Given the description of an element on the screen output the (x, y) to click on. 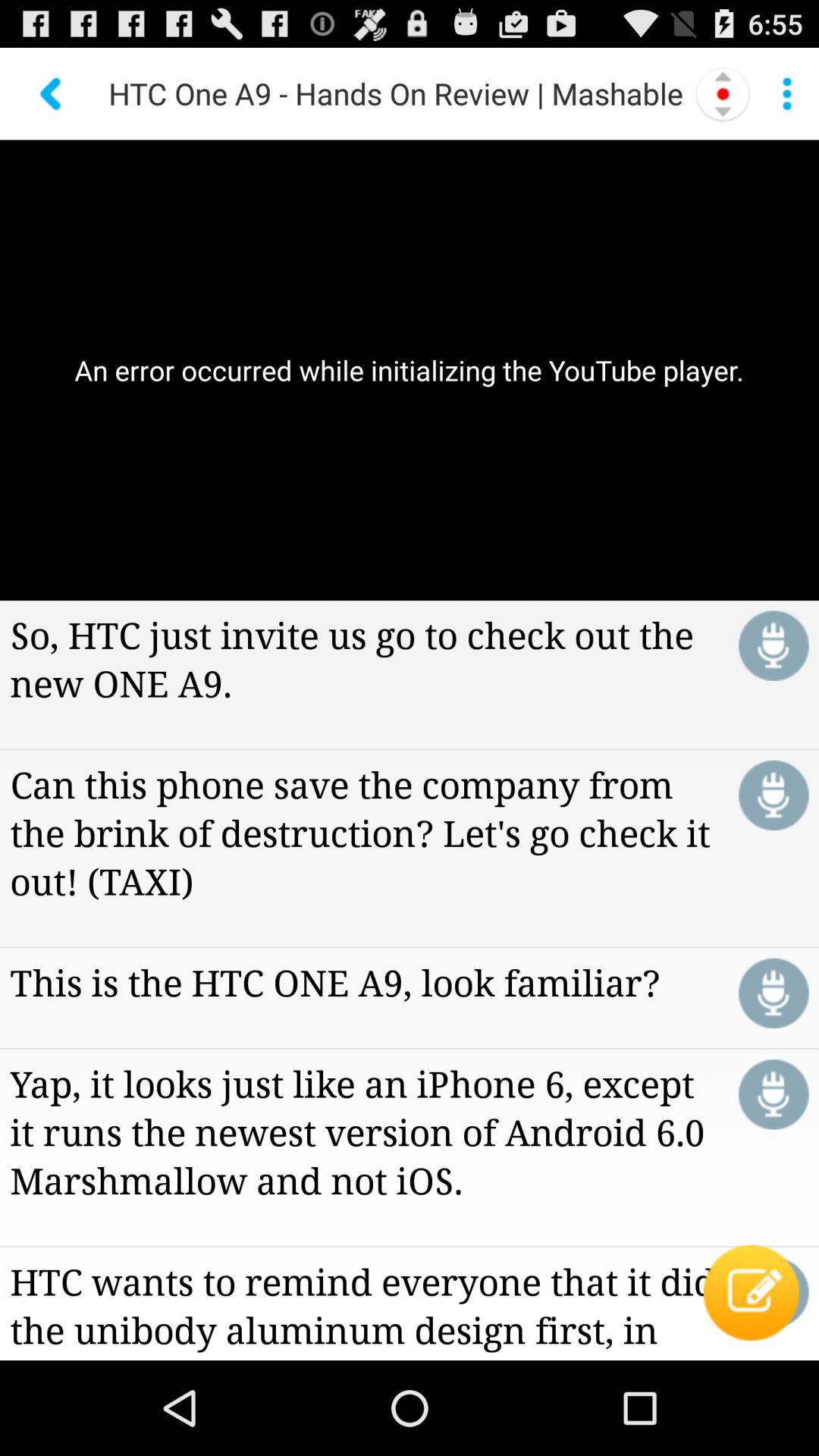
launch the app next to the htc one a9 icon (52, 93)
